Given the description of an element on the screen output the (x, y) to click on. 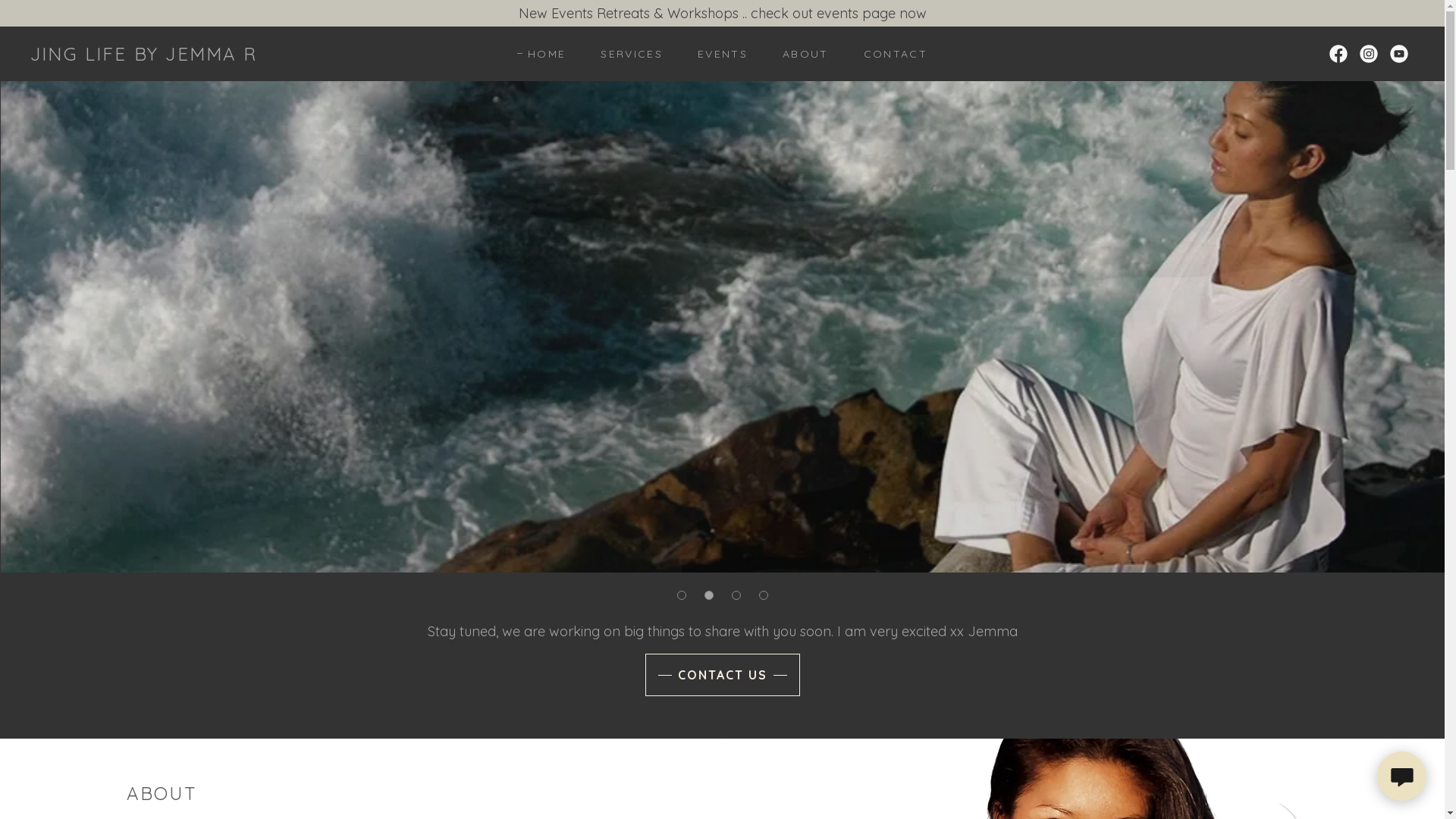
JING LIFE BY JEMMA R Element type: text (143, 55)
EVENTS Element type: text (717, 53)
HOME Element type: text (541, 53)
ABOUT Element type: text (800, 53)
New Events Retreats & Workshops .. check out events page now Element type: text (722, 13)
CONTACT Element type: text (889, 53)
SERVICES Element type: text (626, 53)
CONTACT US Element type: text (721, 674)
